Given the description of an element on the screen output the (x, y) to click on. 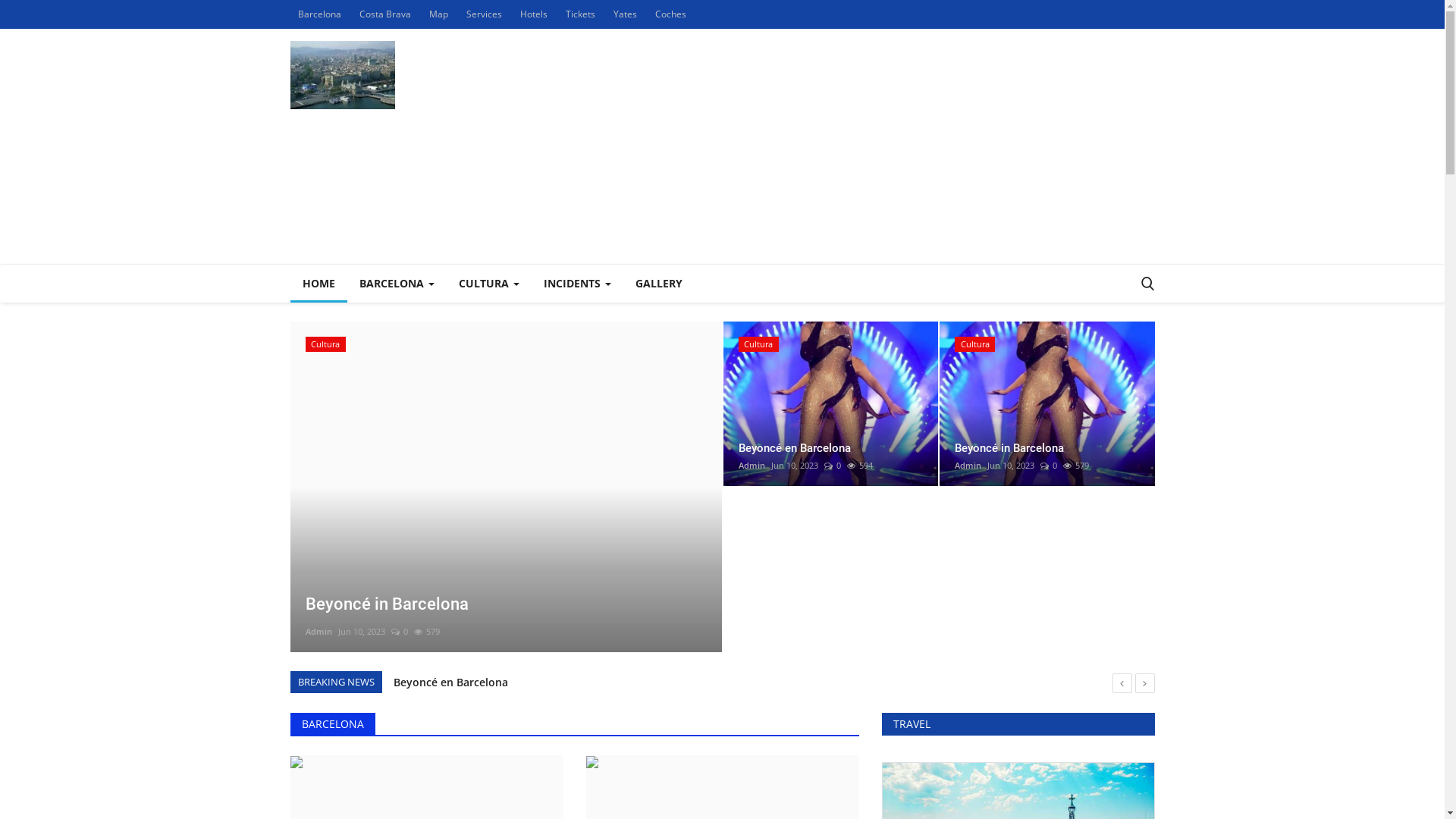
Hotels Element type: text (533, 14)
Admin Element type: text (967, 465)
Admin Element type: text (751, 465)
BARCELONA Element type: text (332, 723)
Coches Element type: text (670, 14)
Admin Element type: text (317, 631)
Barcelona Element type: text (318, 14)
GALLERY Element type: text (658, 283)
Map Element type: text (438, 14)
Yates Element type: text (624, 14)
Tickets Element type: text (580, 14)
CULTURA Element type: text (487, 283)
HOME Element type: text (317, 283)
BARCELONA Element type: text (396, 283)
INCIDENTS Element type: text (576, 283)
Advertisement Element type: hover (878, 146)
Services Element type: text (483, 14)
Costa Brava Element type: text (384, 14)
